Given the description of an element on the screen output the (x, y) to click on. 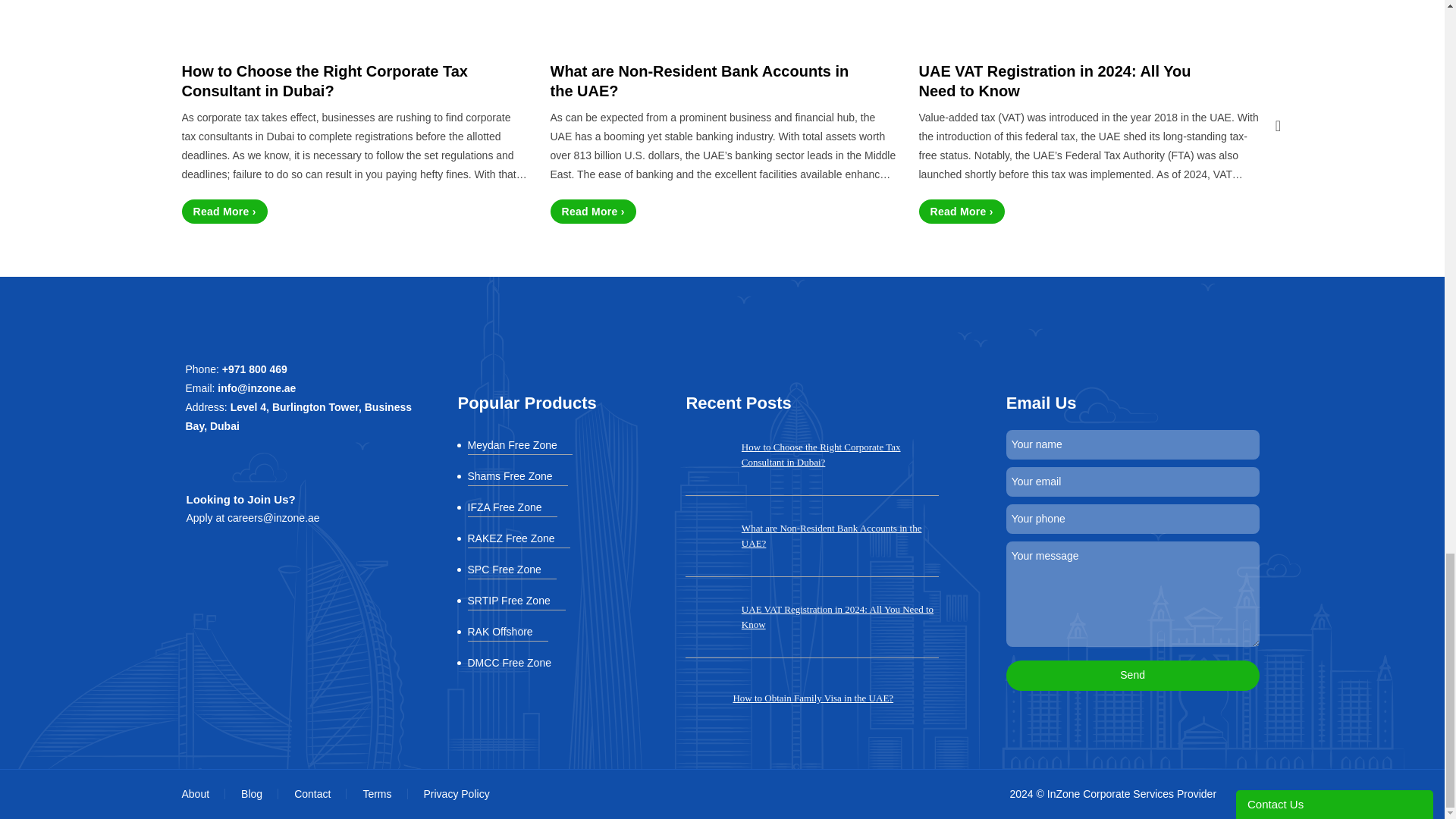
SRTIP Free Zone (515, 602)
DMCC Free Zone (516, 663)
How to Choose the Right Corporate Tax Consultant in Dubai? (333, 80)
UAE VAT Registration in 2024: All You Need to Know (1070, 80)
Meydan Free Zone (519, 446)
RAK offshore (507, 633)
IFZA Free Zone (511, 508)
What are Non-Resident Bank Accounts in the UAE? (701, 80)
Send (1132, 675)
Shama Free Zone (517, 478)
SPC Free Zone (511, 571)
RAK Free Zone (518, 539)
